Given the description of an element on the screen output the (x, y) to click on. 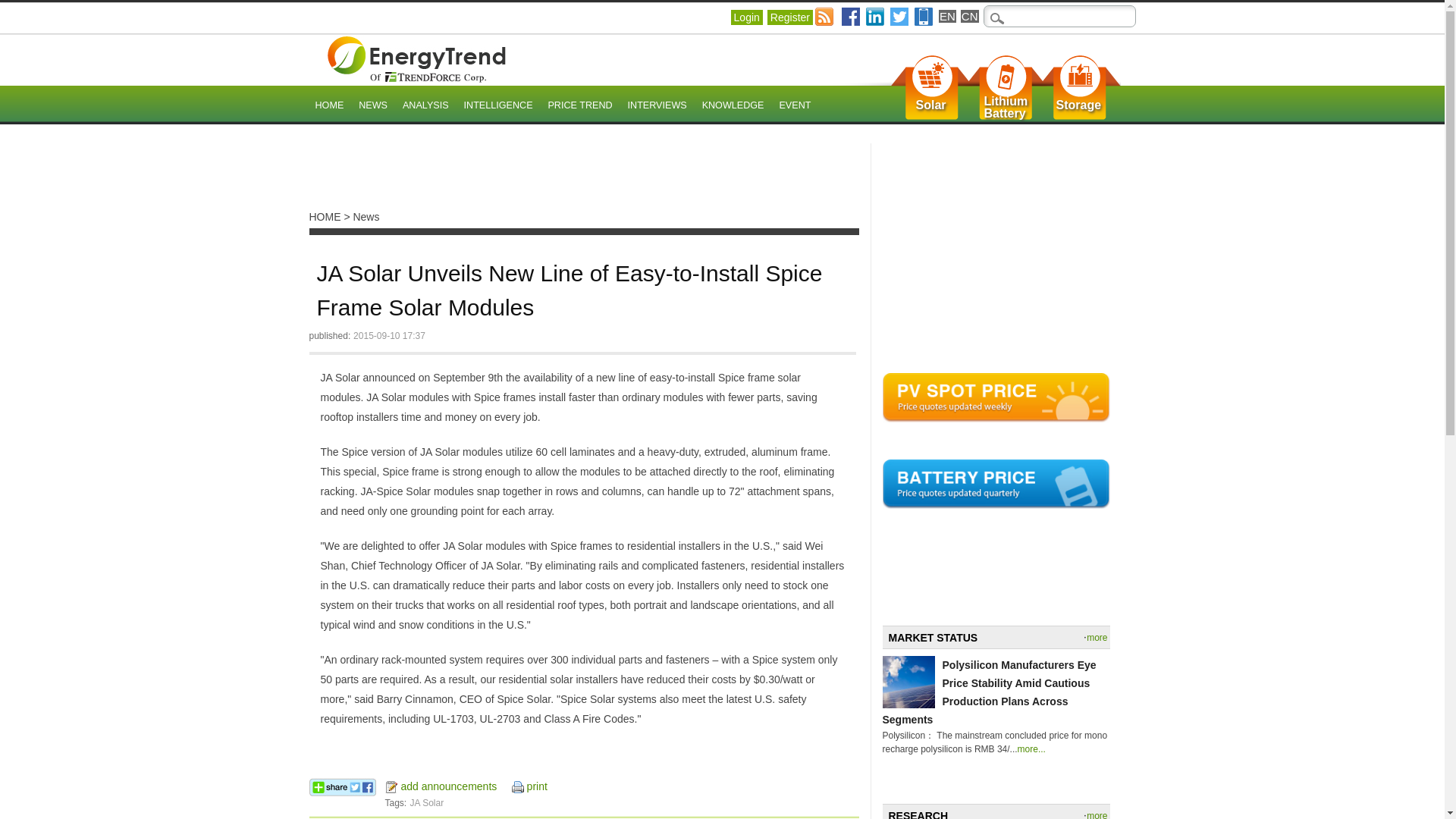
INTERVIEWS (657, 105)
facebook (850, 16)
Register (789, 17)
NEWS (372, 105)
Lithium Battery (1005, 107)
CN (969, 15)
PRICE TREND (579, 105)
Login (746, 17)
Storage (1077, 105)
Storage (1077, 105)
HOME (329, 105)
Solar (930, 105)
KNOWLEDGE (1005, 107)
twitter (732, 105)
